Given the description of an element on the screen output the (x, y) to click on. 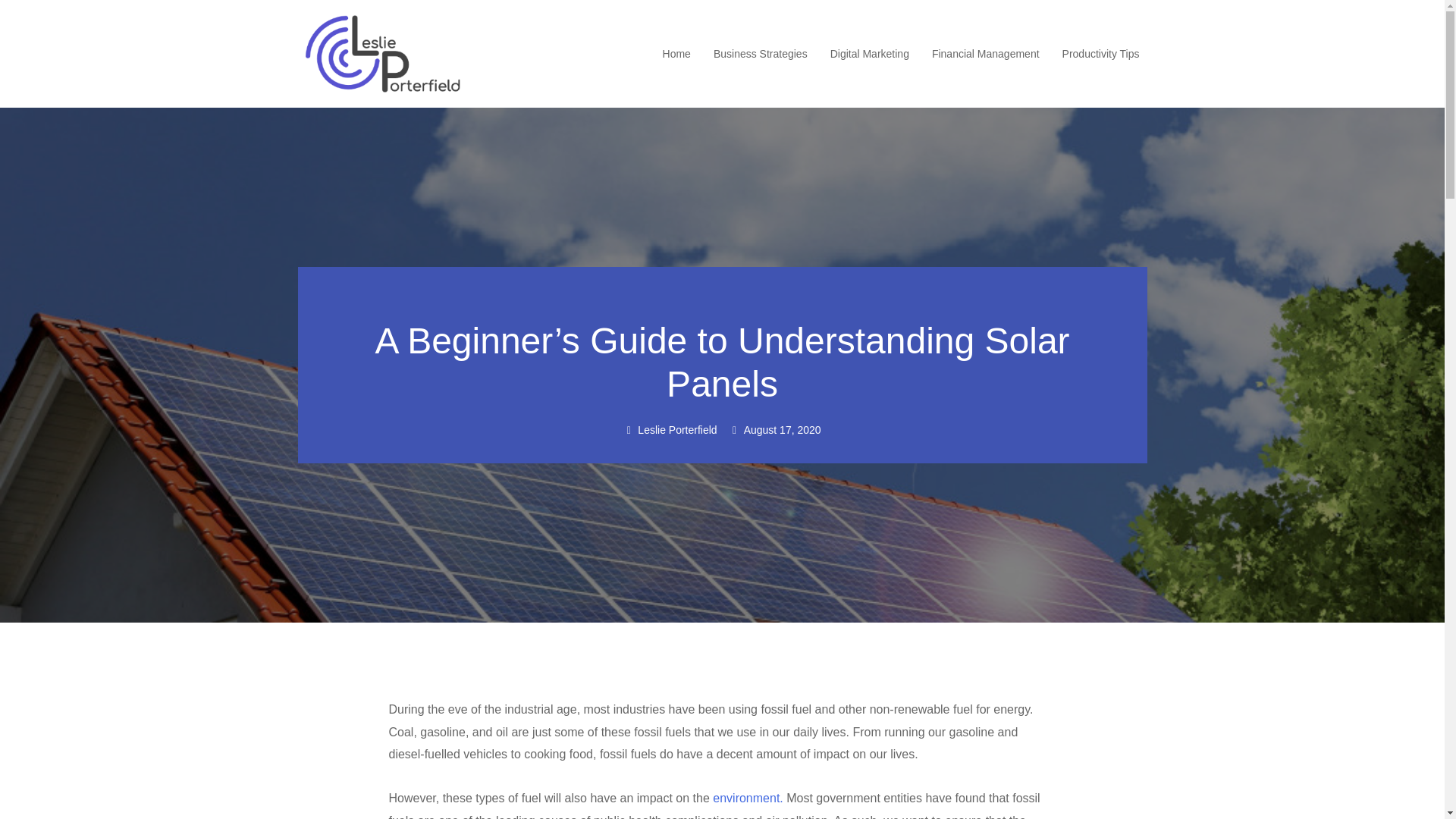
Home (676, 53)
environment. (746, 797)
Business Strategies (760, 53)
Leslie Porterfield (669, 430)
Financial Management (985, 53)
UNCATEGORIZED (722, 295)
Productivity Tips (1101, 53)
Digital Marketing (868, 53)
August 17, 2020 (775, 430)
